Given the description of an element on the screen output the (x, y) to click on. 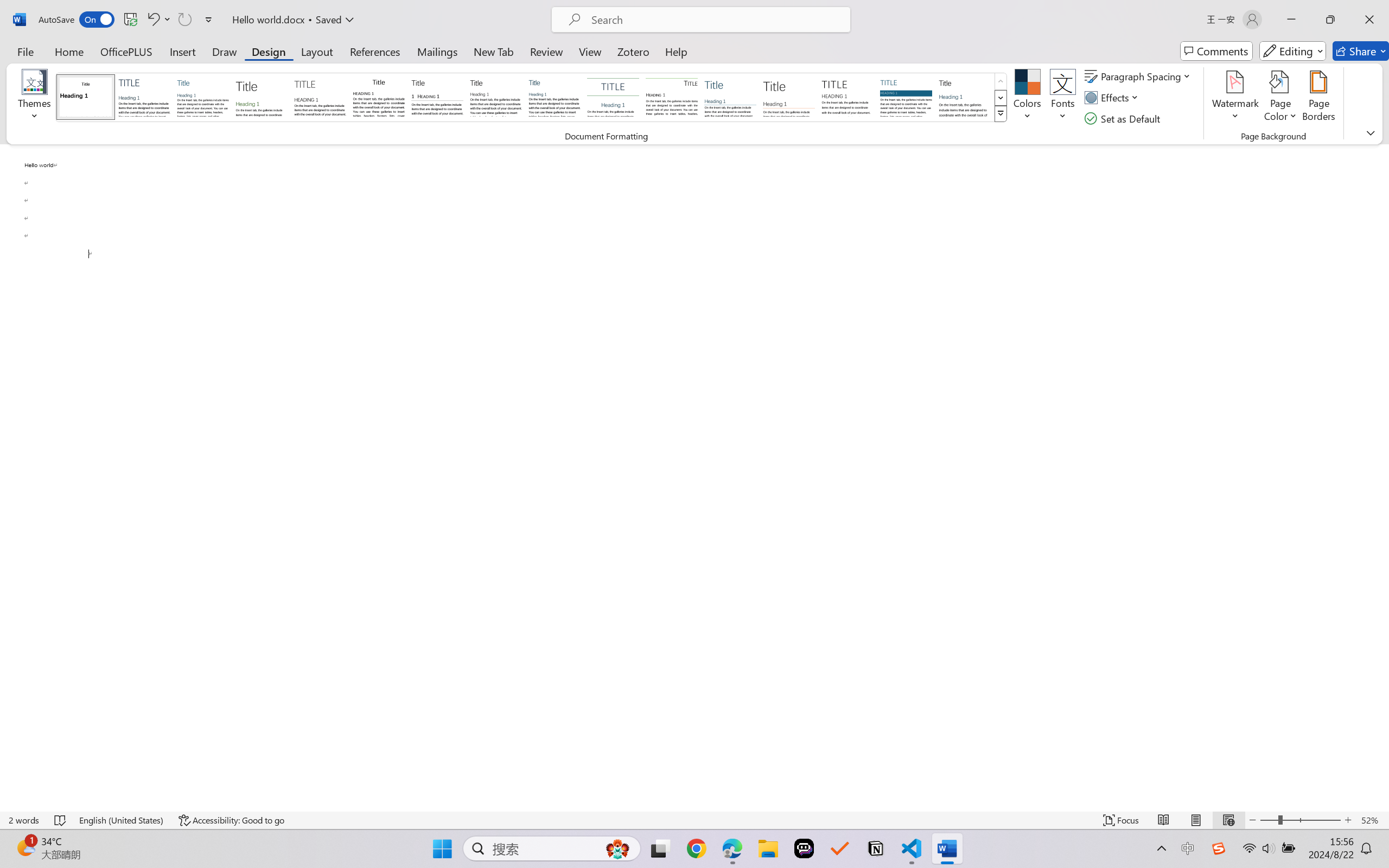
Row Down (1000, 97)
File Tab (24, 51)
Class: MsoCommandBar (694, 819)
Centered (612, 96)
Web Layout (1228, 819)
Zoom Out (1268, 819)
Share (1360, 51)
Style Set (1000, 113)
Read Mode (1163, 819)
Layout (316, 51)
References (375, 51)
New Tab (493, 51)
Mailings (437, 51)
Black & White (Word 2013) (495, 96)
Fonts (1062, 97)
